Given the description of an element on the screen output the (x, y) to click on. 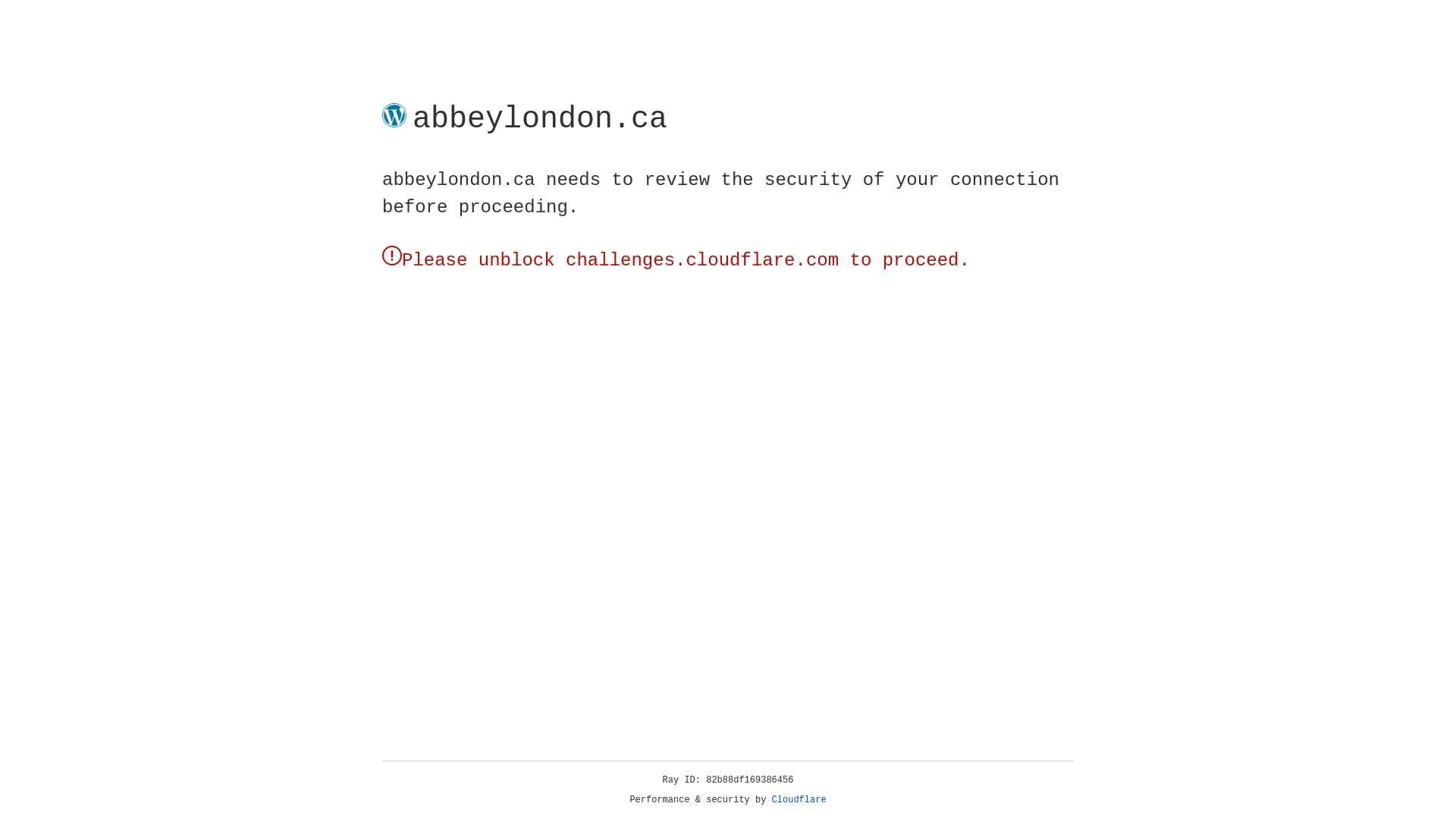
Cloudflare Element type: text (798, 799)
